Given the description of an element on the screen output the (x, y) to click on. 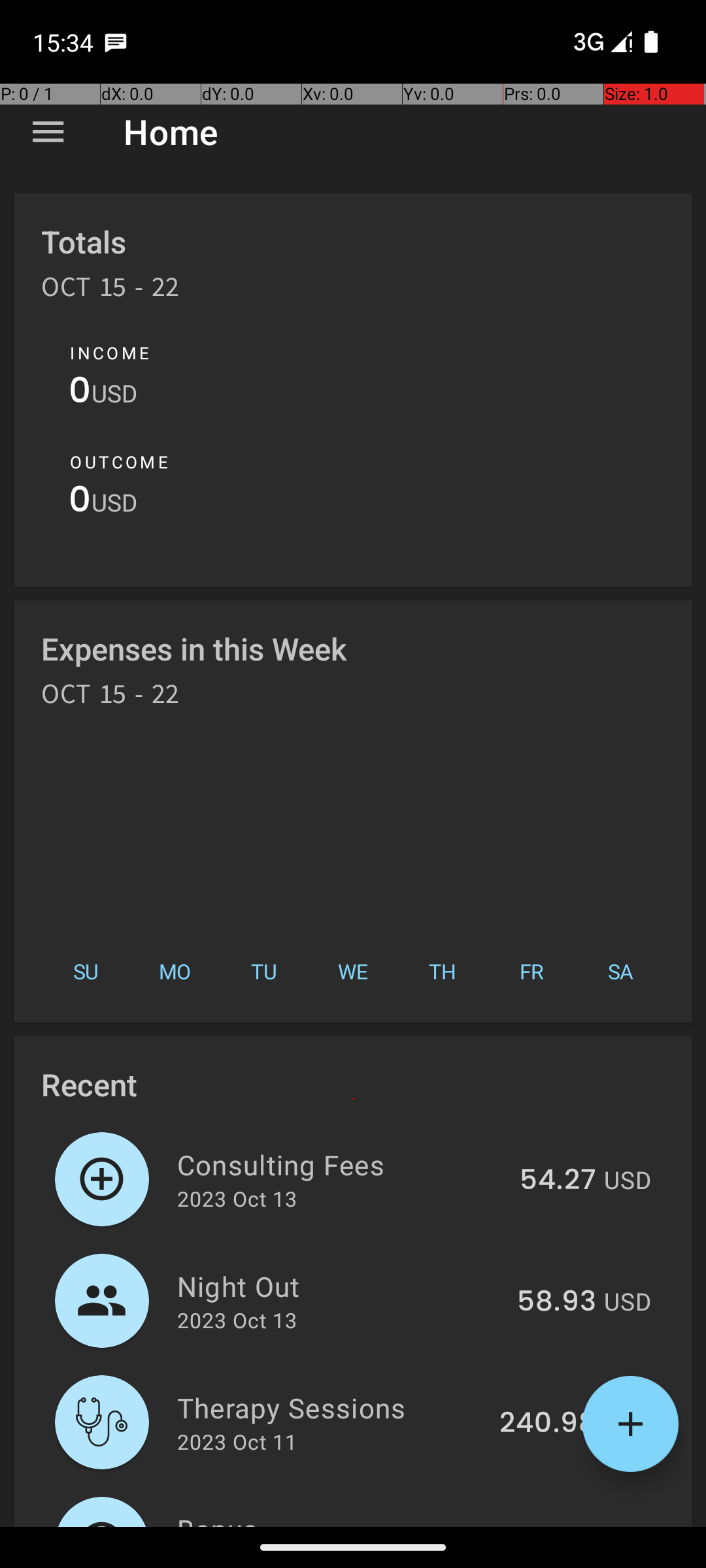
Consulting Fees Element type: android.widget.TextView (340, 1164)
54.27 Element type: android.widget.TextView (557, 1180)
Night Out Element type: android.widget.TextView (339, 1285)
58.93 Element type: android.widget.TextView (556, 1301)
Therapy Sessions Element type: android.widget.TextView (330, 1407)
2023 Oct 11 Element type: android.widget.TextView (236, 1441)
240.98 Element type: android.widget.TextView (547, 1423)
Bonus Element type: android.widget.TextView (339, 1518)
426.5 Element type: android.widget.TextView (556, 1524)
